Given the description of an element on the screen output the (x, y) to click on. 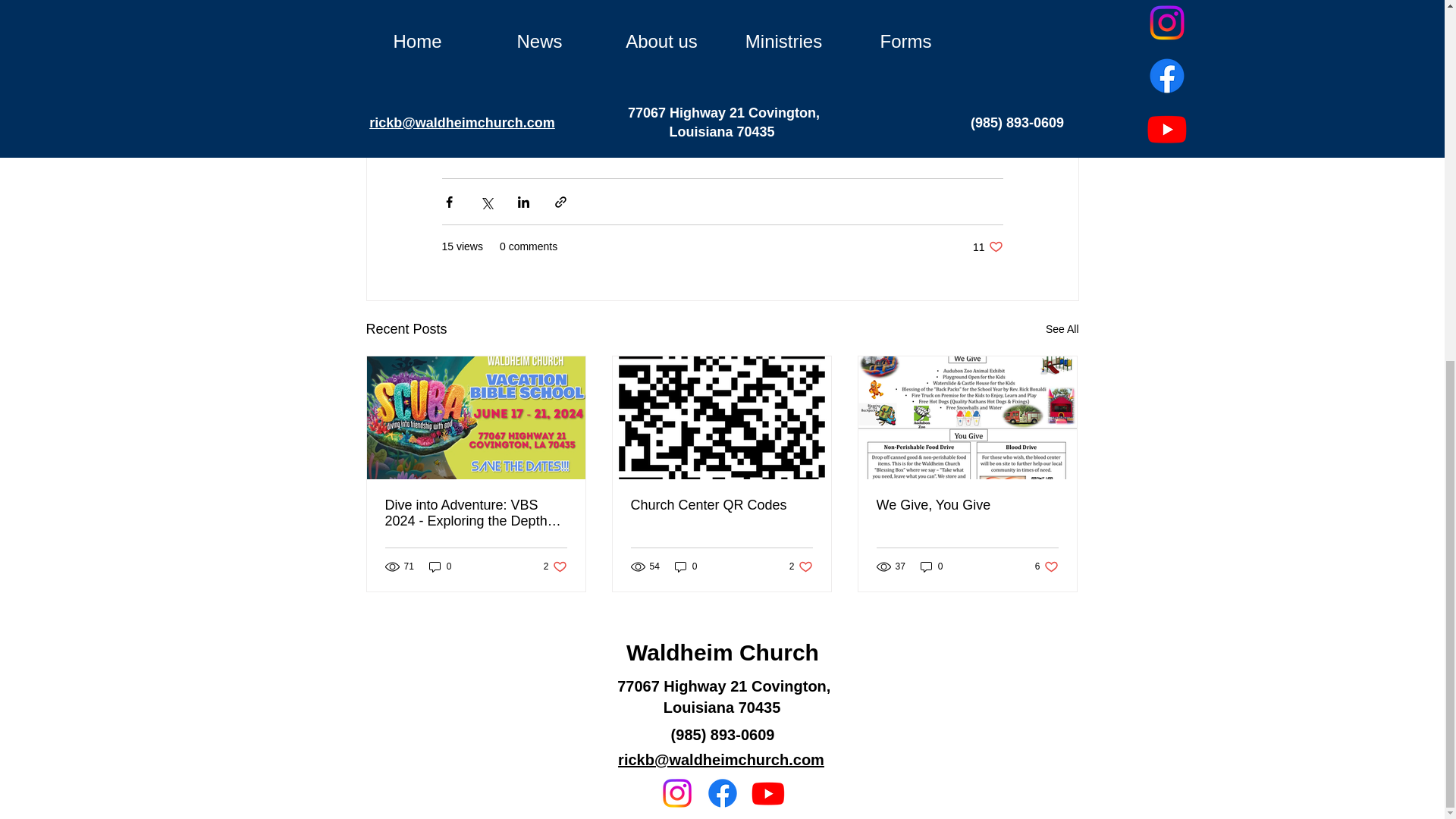
0 (931, 565)
Church Center QR Codes (800, 565)
0 (1046, 565)
See All (555, 565)
We Give, You Give (721, 505)
0 (685, 565)
